Given the description of an element on the screen output the (x, y) to click on. 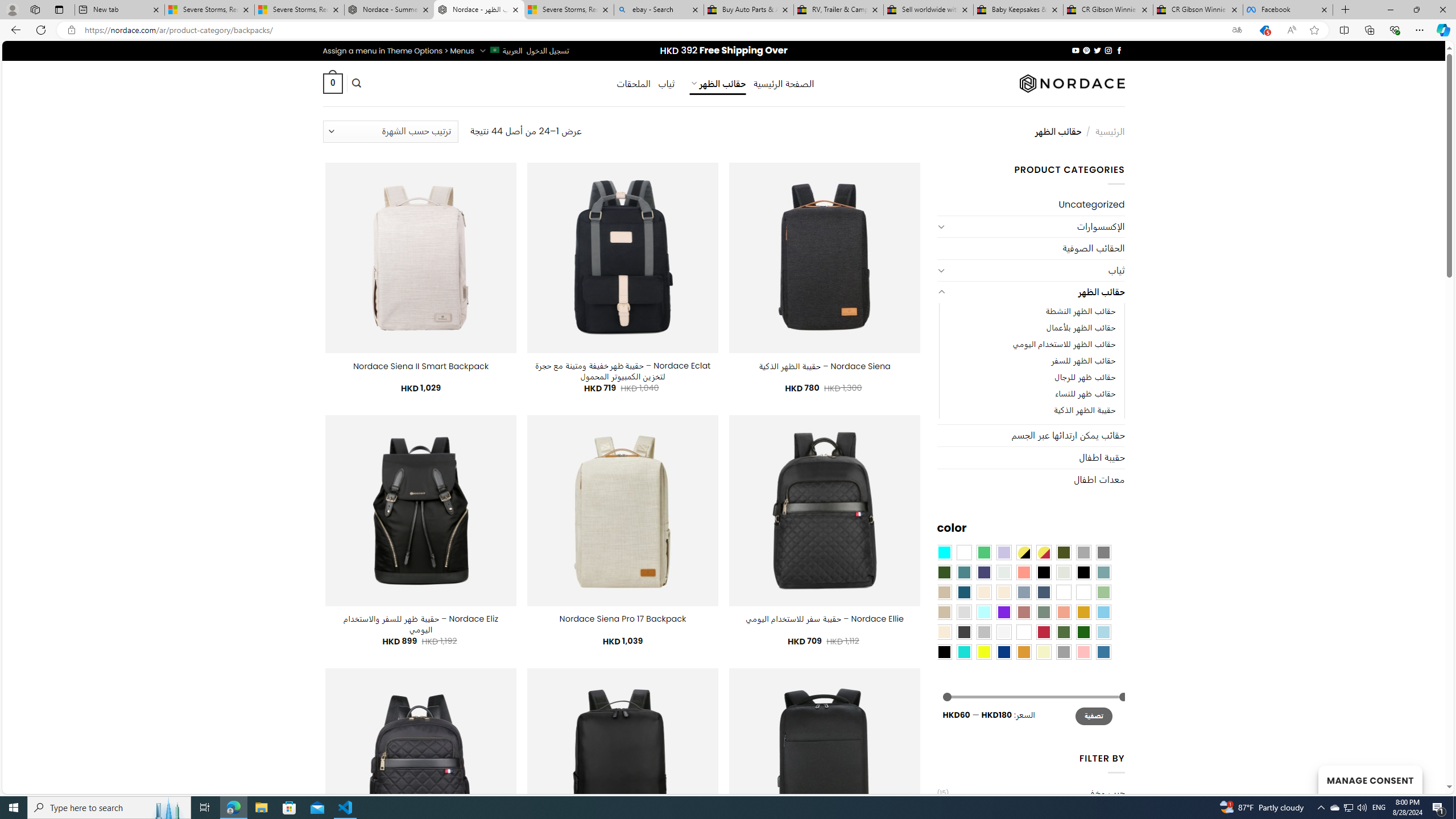
Facebook (1287, 9)
Mint (983, 611)
  0   (332, 83)
Light Purple (1003, 551)
Black-Brown (1082, 572)
Caramel (983, 591)
